Given the description of an element on the screen output the (x, y) to click on. 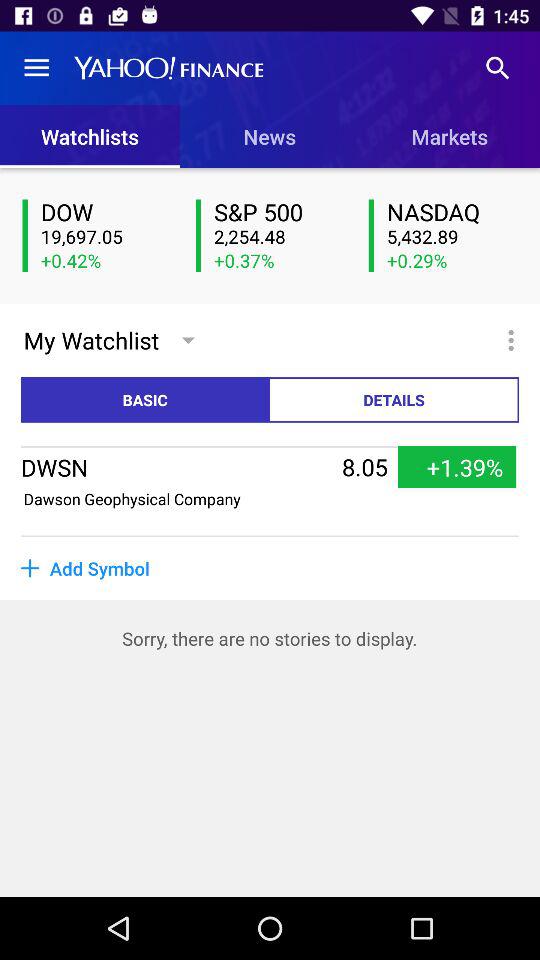
turn on the icon below news item (279, 212)
